Given the description of an element on the screen output the (x, y) to click on. 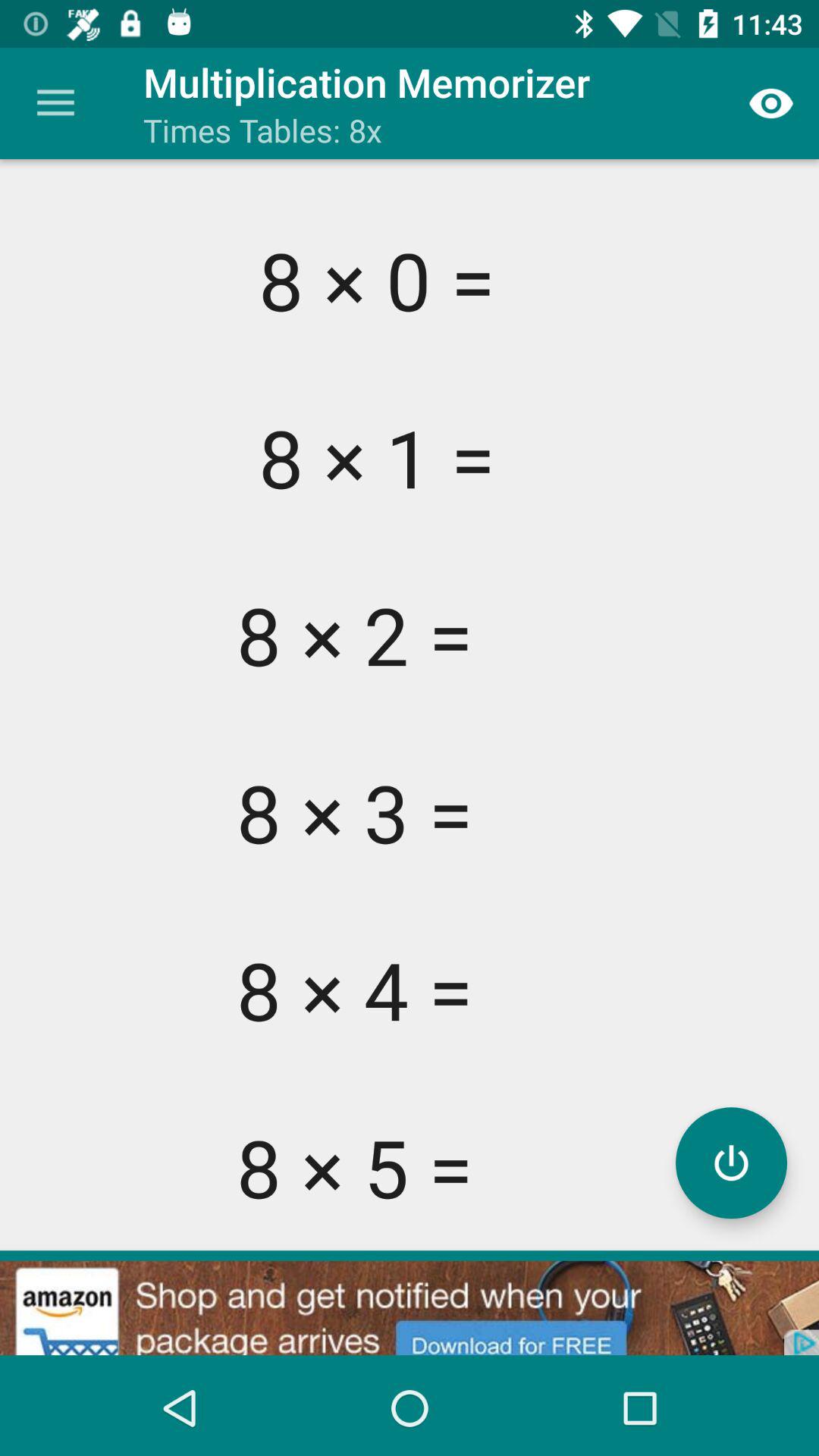
show or hide answers (731, 1162)
